Given the description of an element on the screen output the (x, y) to click on. 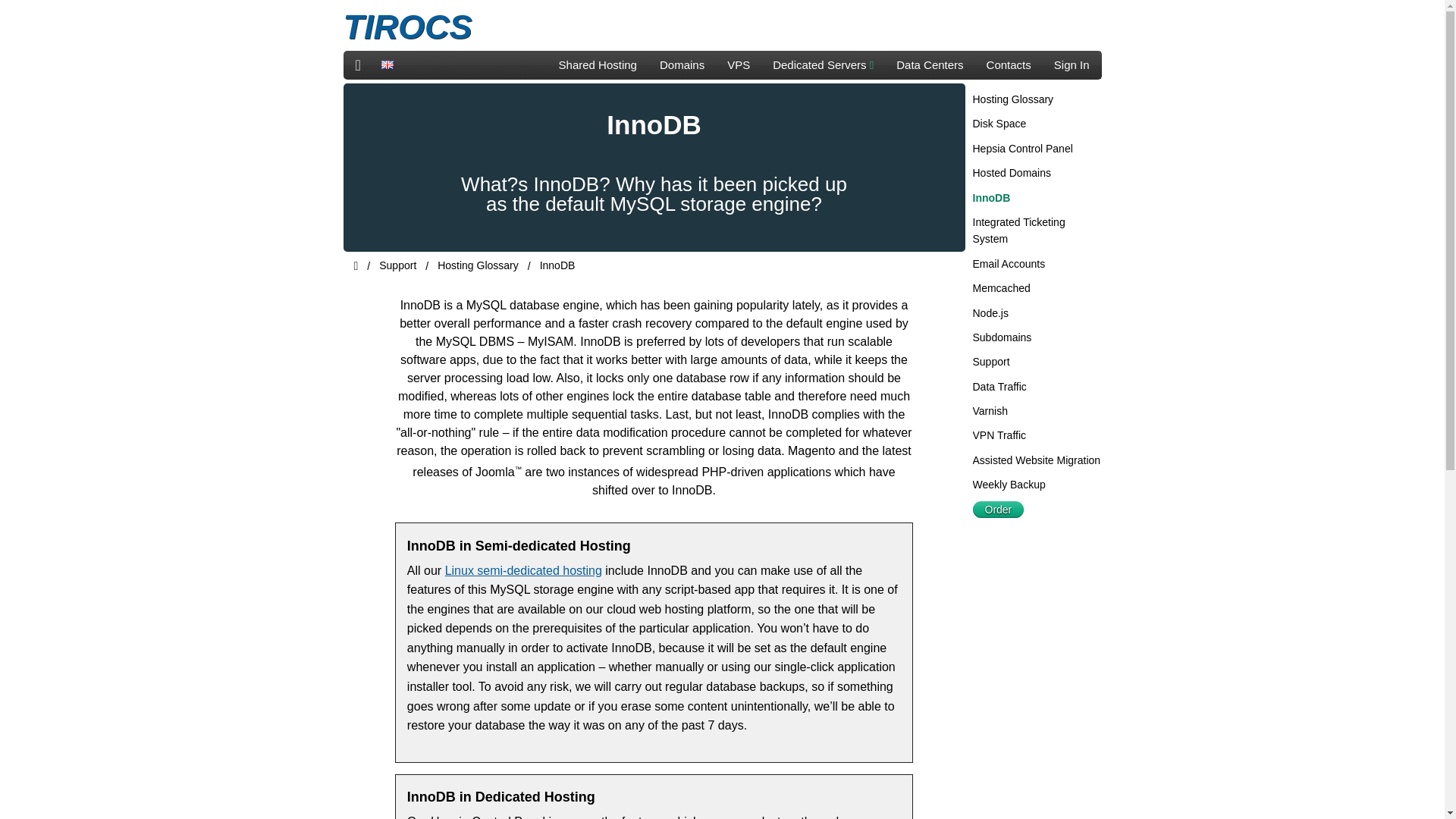
Node.js (989, 313)
InnoDB (991, 197)
Hosting Glossary (1012, 99)
Shared Hosting (597, 64)
Subdomains (1001, 337)
Linux semi-dedicated hosting (523, 570)
VPS (738, 64)
Integrated Ticketing System (1018, 230)
Domains (681, 64)
Contacts (1008, 64)
Sign In (1071, 64)
Hepsia Control Panel (1021, 148)
Disk Space (999, 123)
Memcached (1000, 287)
Weekly Backup (1008, 484)
